Given the description of an element on the screen output the (x, y) to click on. 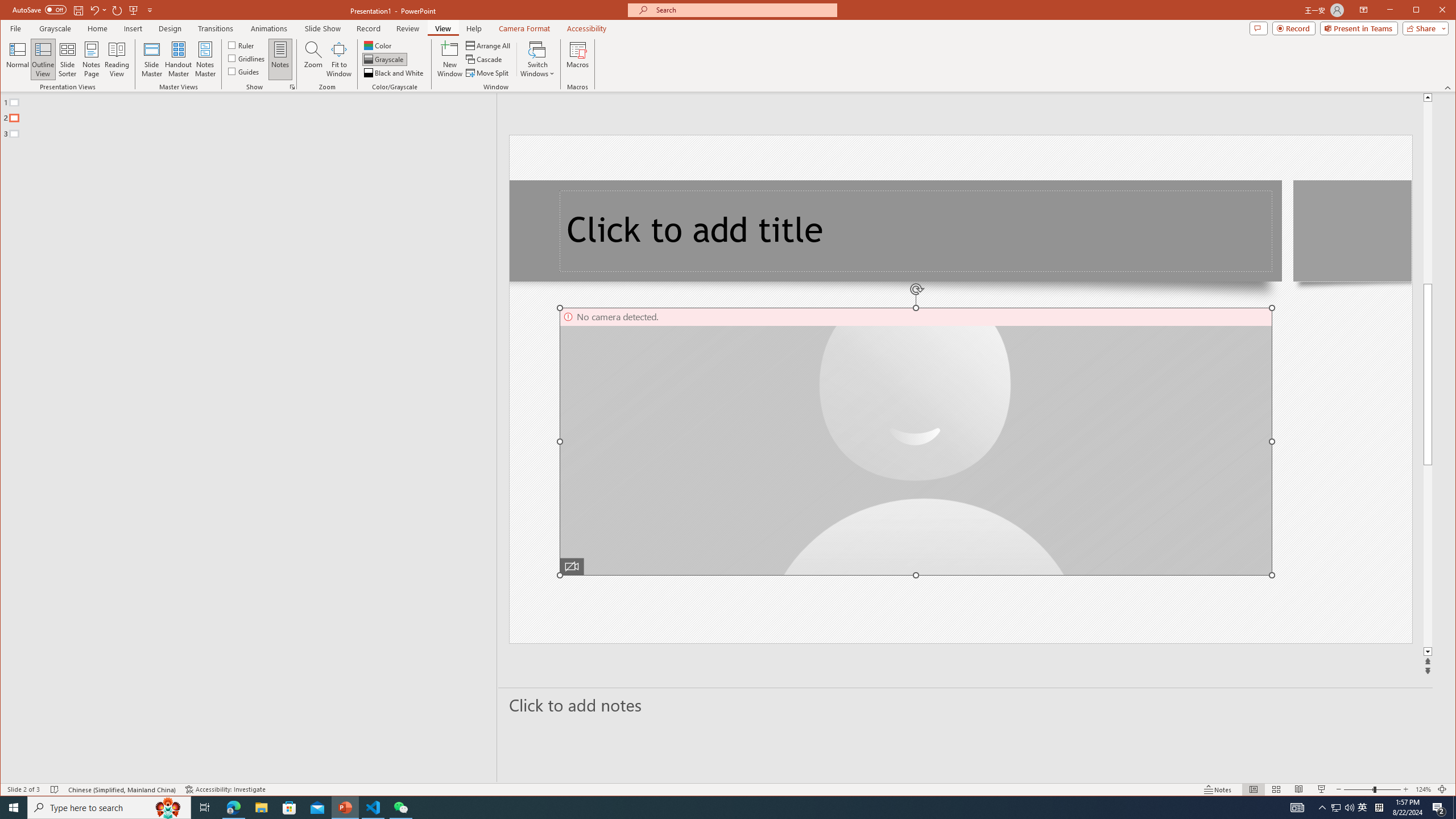
Microsoft Edge - 1 running window (233, 807)
Black and White (1335, 807)
Cascade (394, 72)
Color (484, 59)
Notes Page (378, 45)
Search highlights icon opens search home window (91, 59)
Handout Master (167, 807)
Grid Settings... (178, 59)
